Given the description of an element on the screen output the (x, y) to click on. 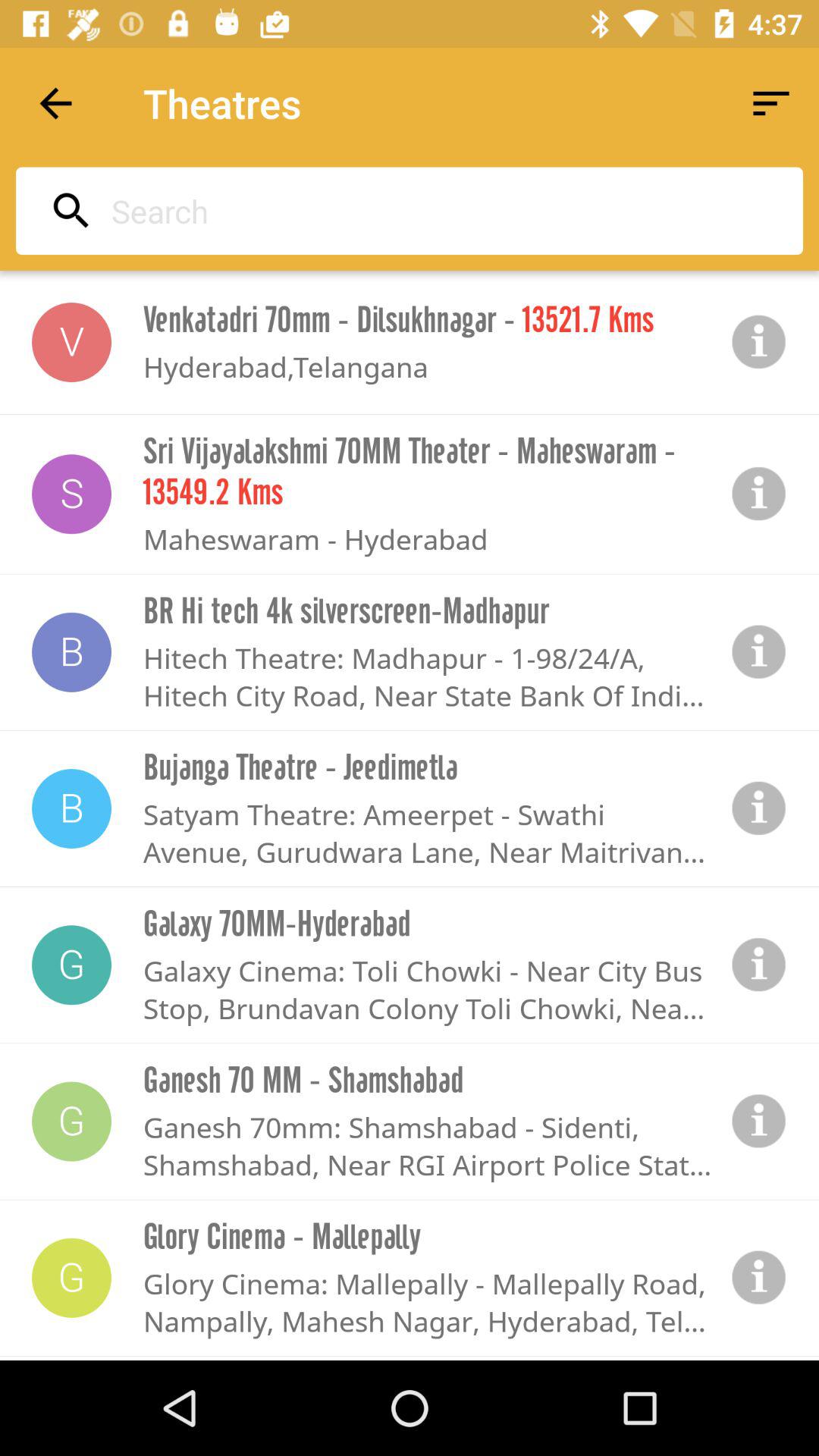
launch the item next to theatres (55, 103)
